Given the description of an element on the screen output the (x, y) to click on. 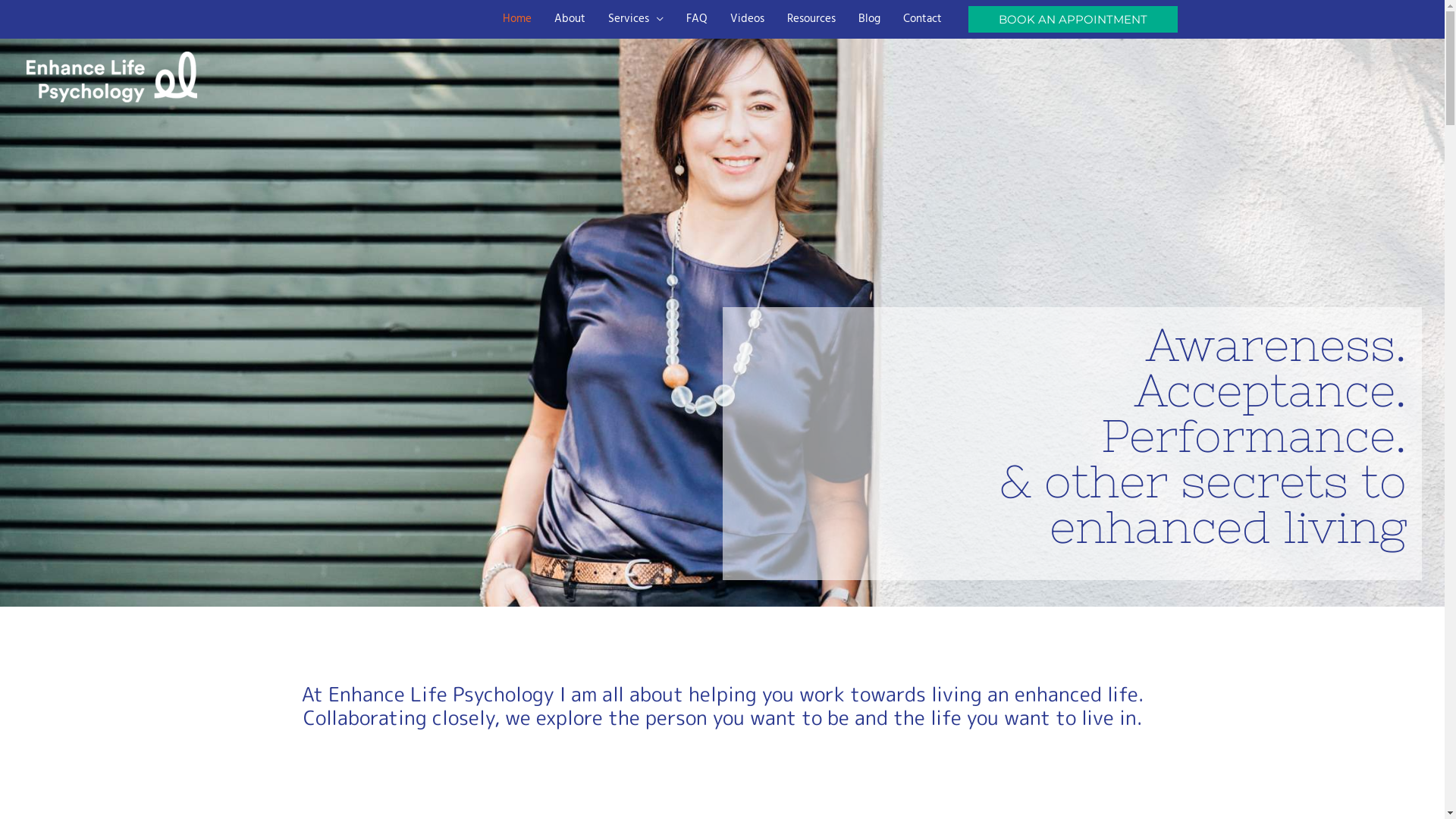
Services Element type: text (635, 18)
BOOK AN APPOINTMENT Element type: text (1072, 19)
Contact Element type: text (922, 18)
FAQ Element type: text (696, 18)
About Element type: text (569, 18)
Resources Element type: text (811, 18)
Videos Element type: text (746, 18)
Home Element type: text (516, 18)
Blog Element type: text (869, 18)
